Given the description of an element on the screen output the (x, y) to click on. 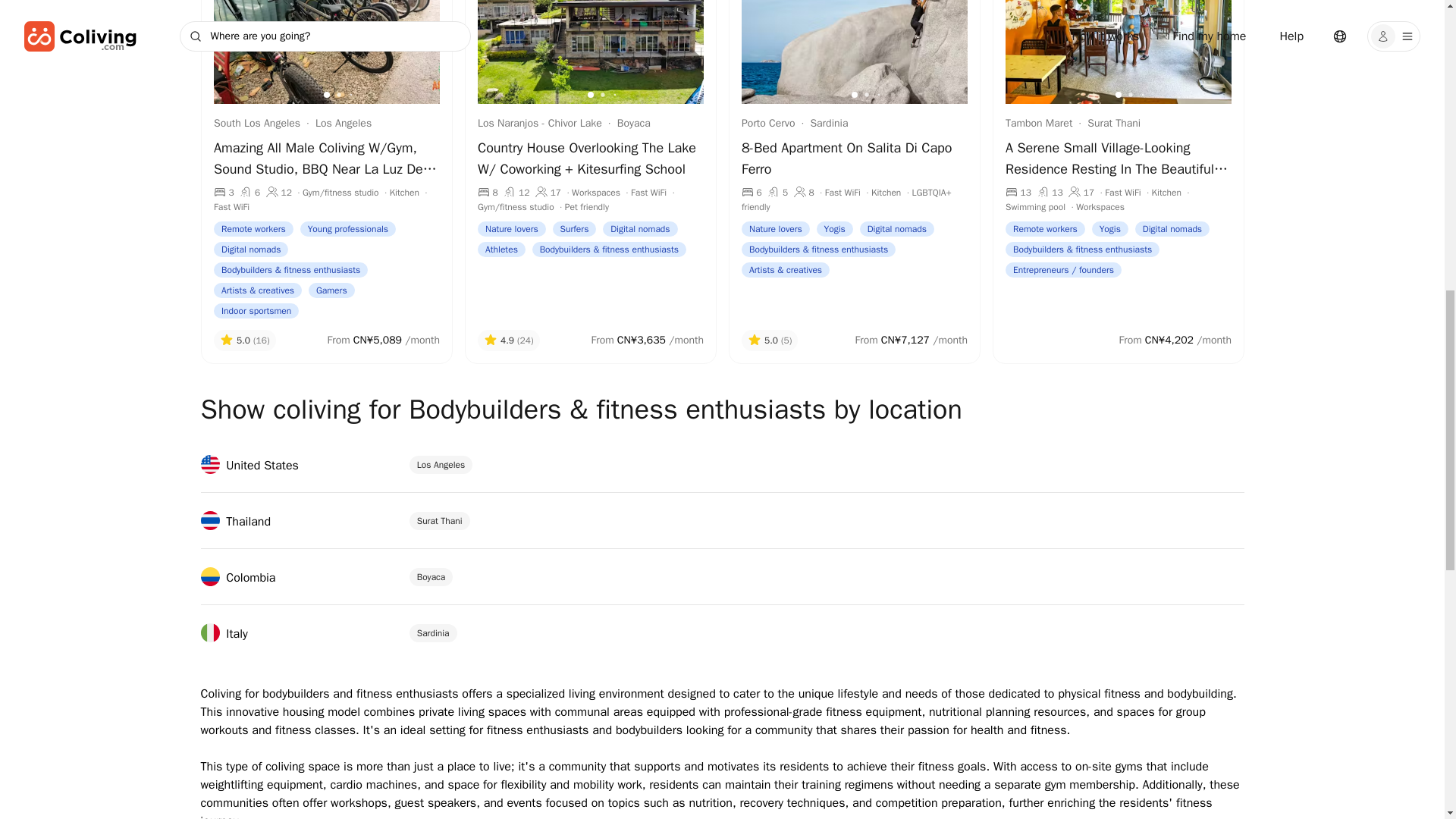
Surat Thani (439, 520)
Sardinia (433, 633)
United States (249, 465)
Boyaca (430, 577)
Los Angeles (441, 464)
Colombia (237, 577)
Thailand (235, 521)
Italy (223, 633)
